Given the description of an element on the screen output the (x, y) to click on. 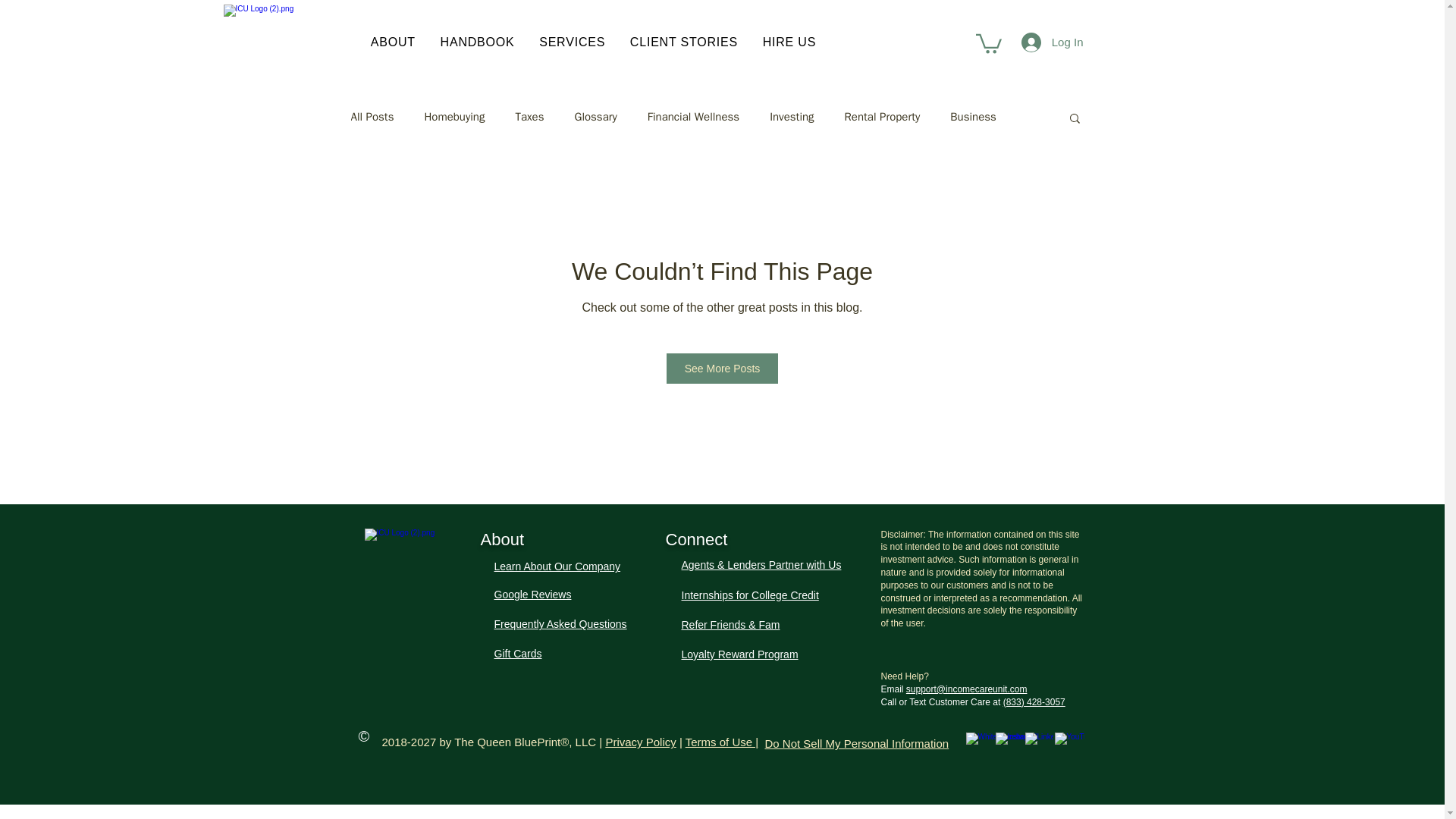
Learn About Our Company (558, 566)
Google Reviews (533, 594)
All Posts (371, 116)
CLIENT STORIES (684, 41)
ABOUT (393, 41)
Rental Property (882, 116)
Privacy Policy (640, 741)
Internships for College Credit (749, 594)
Investing (791, 116)
Business (972, 116)
